Given the description of an element on the screen output the (x, y) to click on. 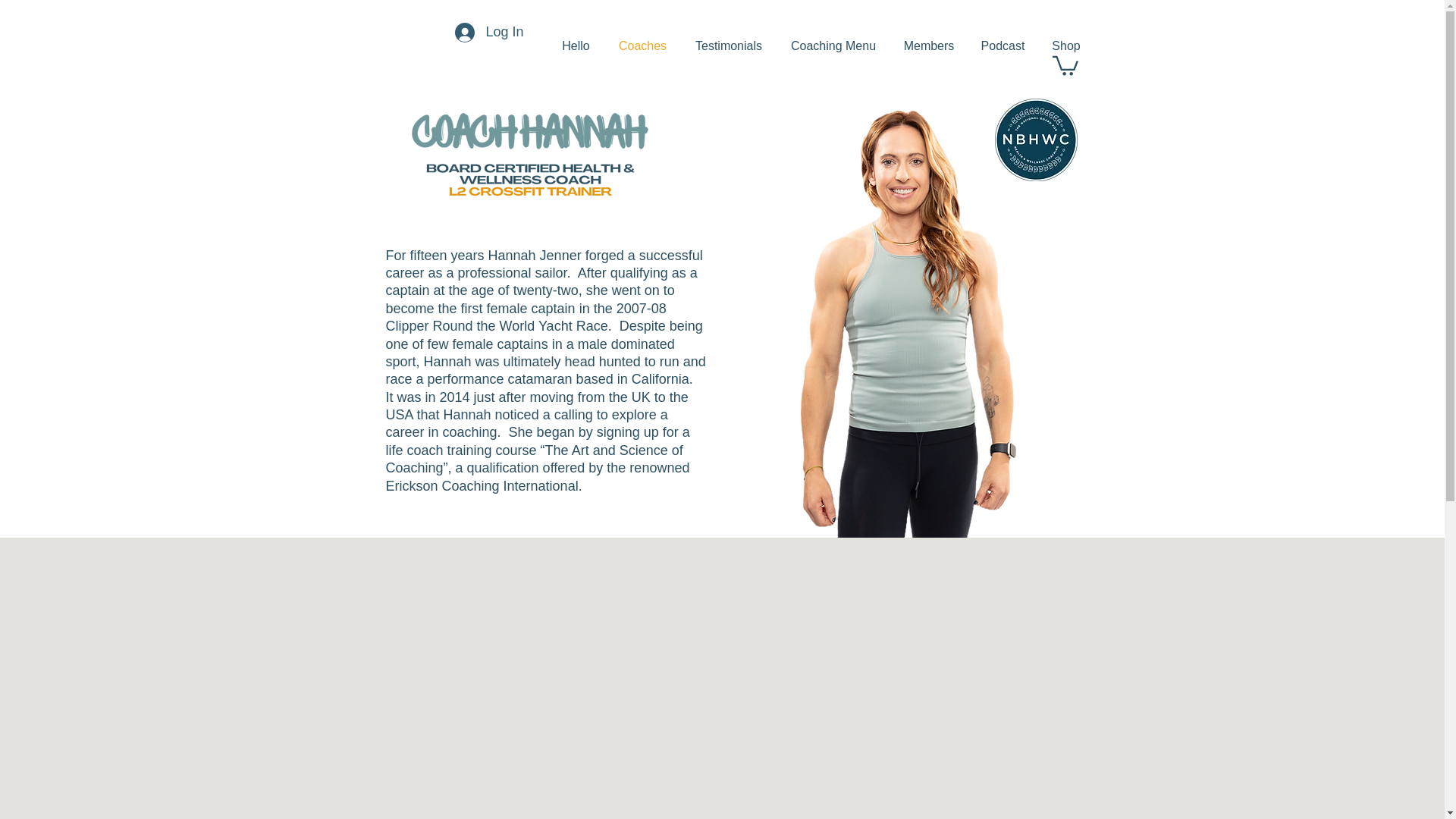
Shop (1064, 46)
Podcast (1003, 46)
Coaches (641, 46)
Members (928, 46)
Hello (575, 46)
Log In (489, 32)
Coaching Menu (832, 46)
Testimonials (728, 46)
